Given the description of an element on the screen output the (x, y) to click on. 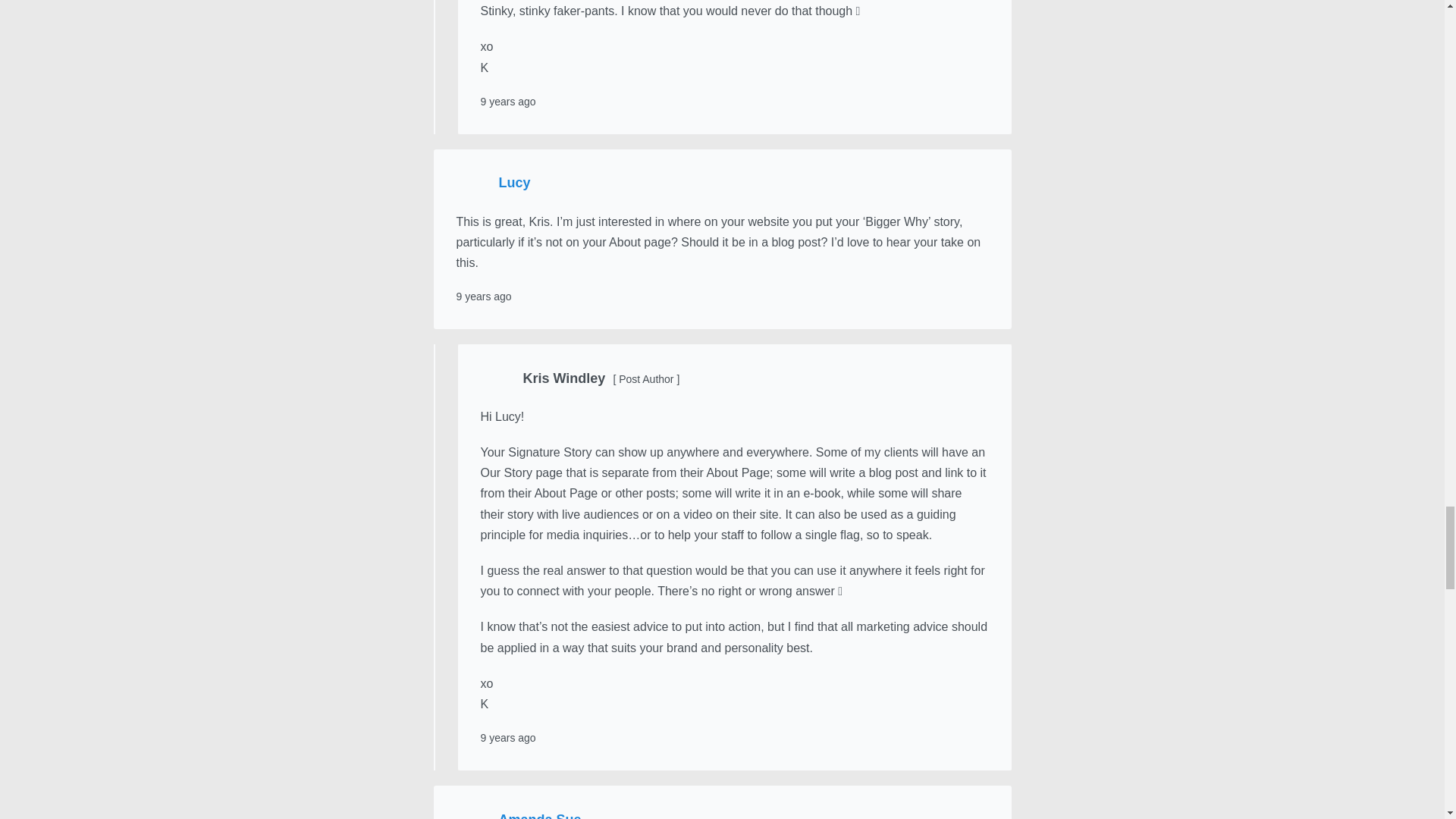
2015-04-29T15:16:23-05:00 (507, 737)
2015-04-29T18:56:52-05:00 (507, 101)
2015-04-29T14:44:08-05:00 (484, 296)
